Given the description of an element on the screen output the (x, y) to click on. 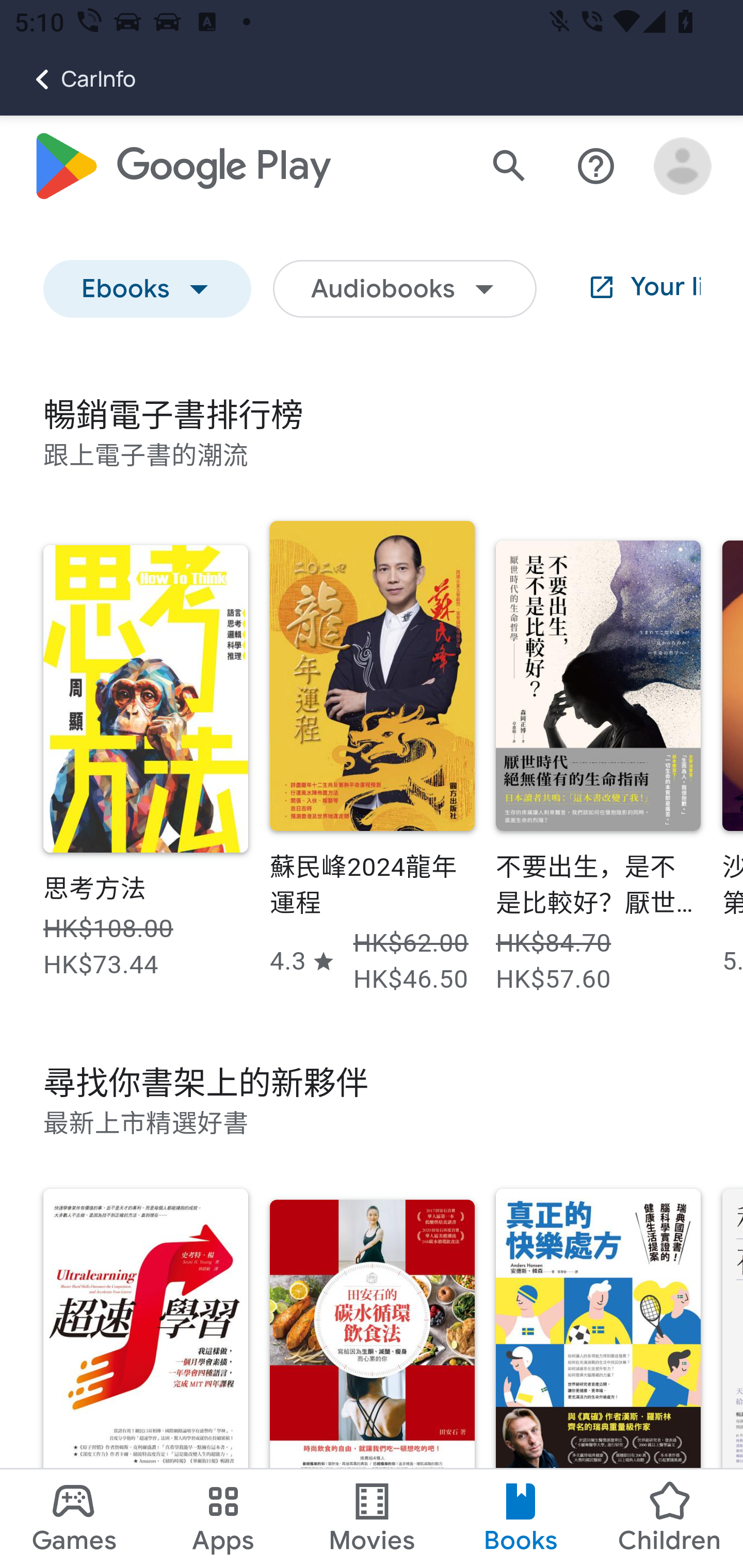
CarInfo (67, 79)
Google Play logo (180, 166)
Search (508, 166)
Help centre (596, 166)
Open account menu (682, 166)
Ebooks (147, 289)
Audiobooks (404, 289)
Your library (629, 289)
Games (74, 1518)
Apps (222, 1518)
Movies (372, 1518)
Books (520, 1518)
Children (668, 1518)
